Given the description of an element on the screen output the (x, y) to click on. 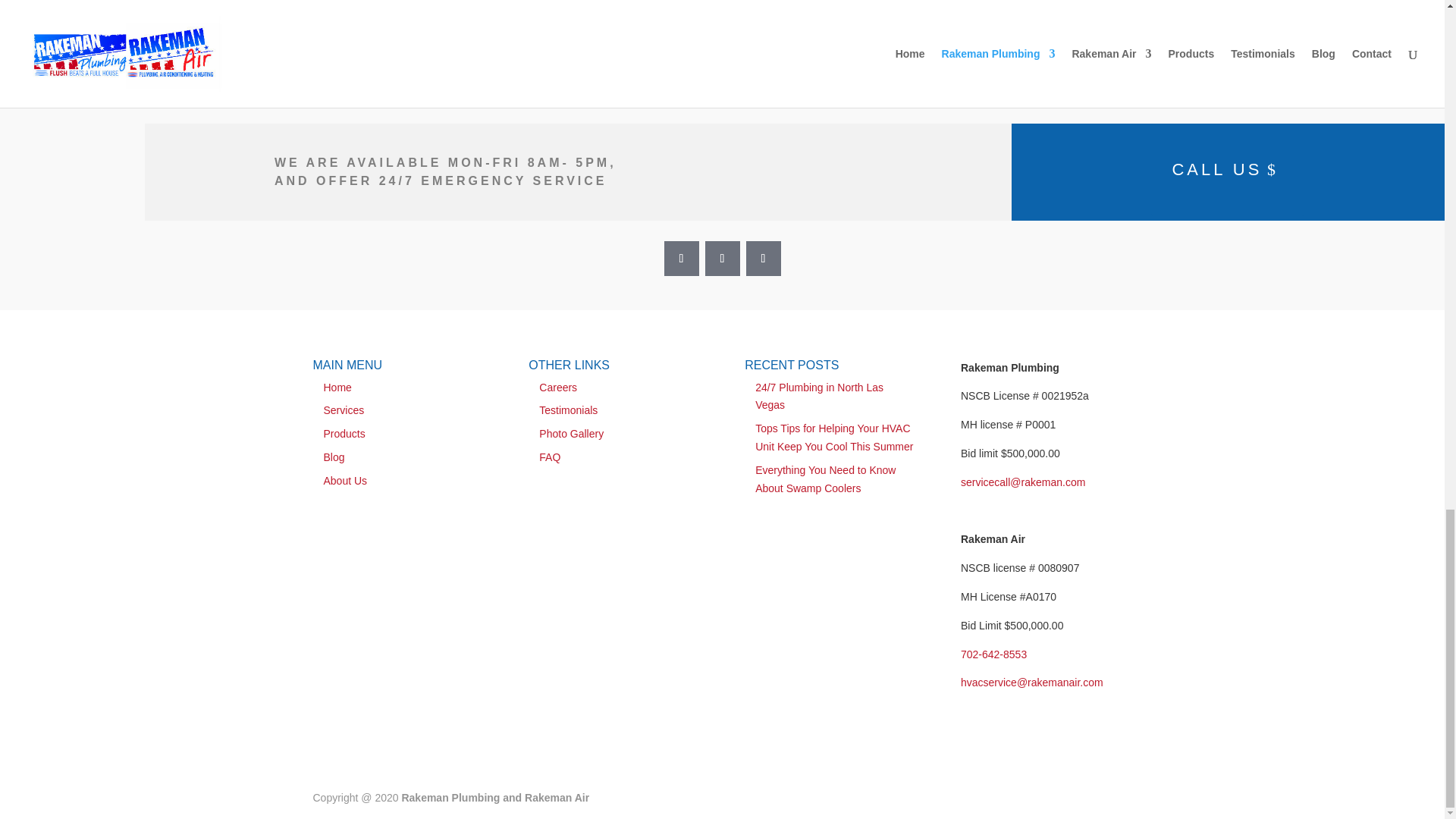
Follow on Facebook (680, 258)
Follow on Youtube (762, 258)
Follow on Instagram (721, 258)
